Given the description of an element on the screen output the (x, y) to click on. 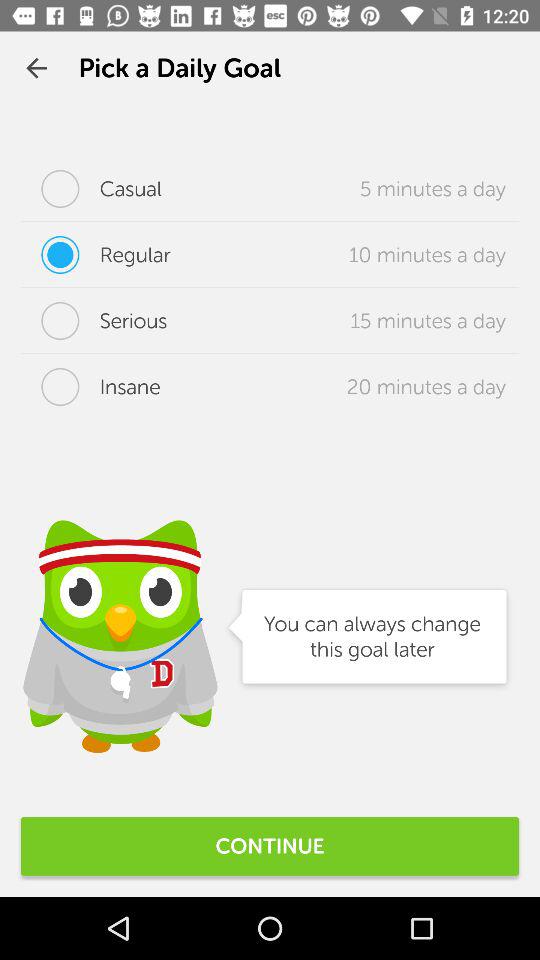
turn off casual (91, 188)
